Given the description of an element on the screen output the (x, y) to click on. 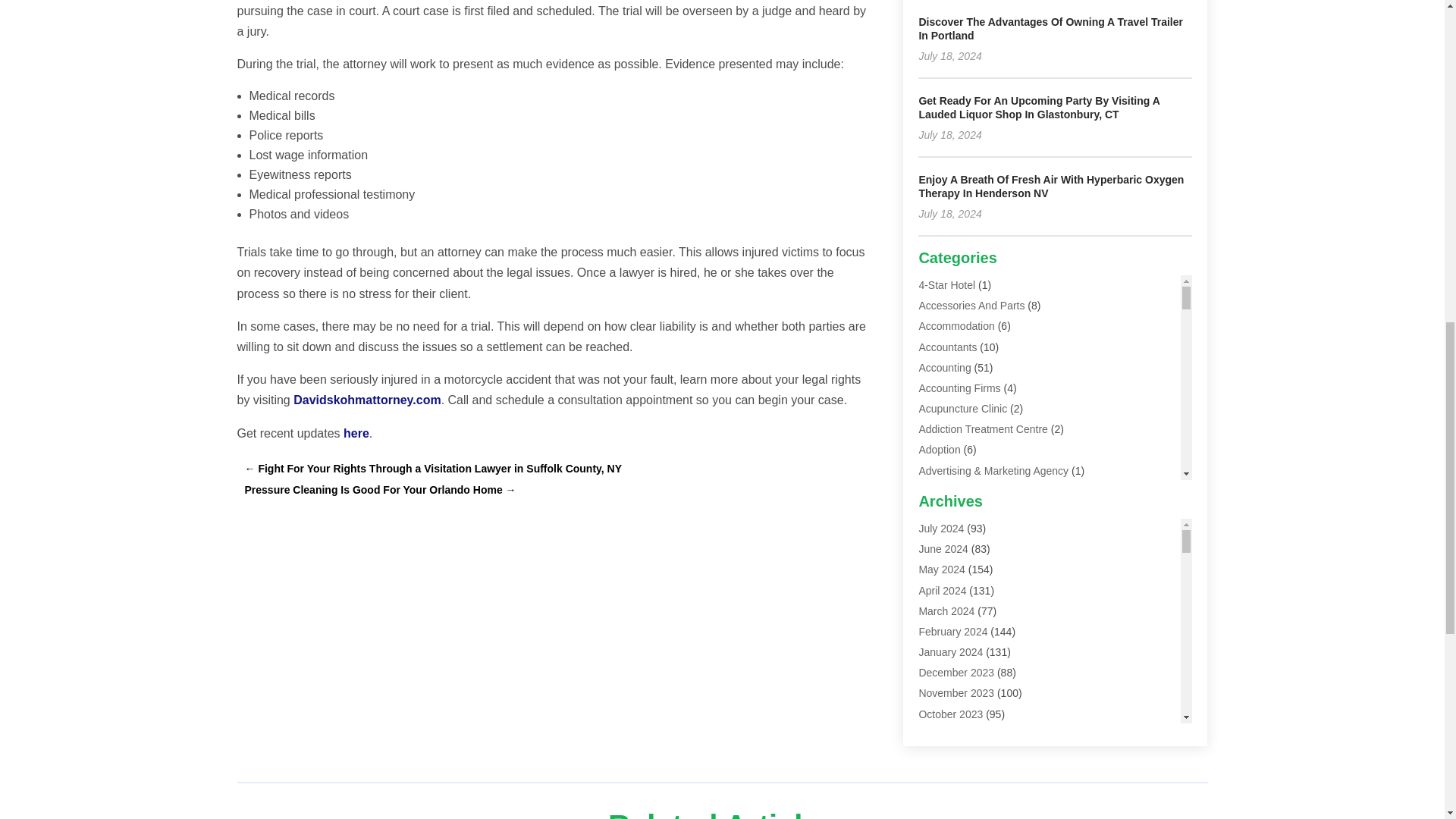
Davidskohmattorney.com (367, 399)
Accommodation (956, 326)
Acupuncture Clinic (962, 408)
Accounting Firms (959, 387)
Advertising Agency (963, 491)
4-Star Hotel (946, 285)
Addiction Treatment Centre (982, 428)
Agricultural Service (964, 511)
Accounting (944, 367)
Accountants (947, 346)
here (356, 431)
Adoption (938, 449)
